Given the description of an element on the screen output the (x, y) to click on. 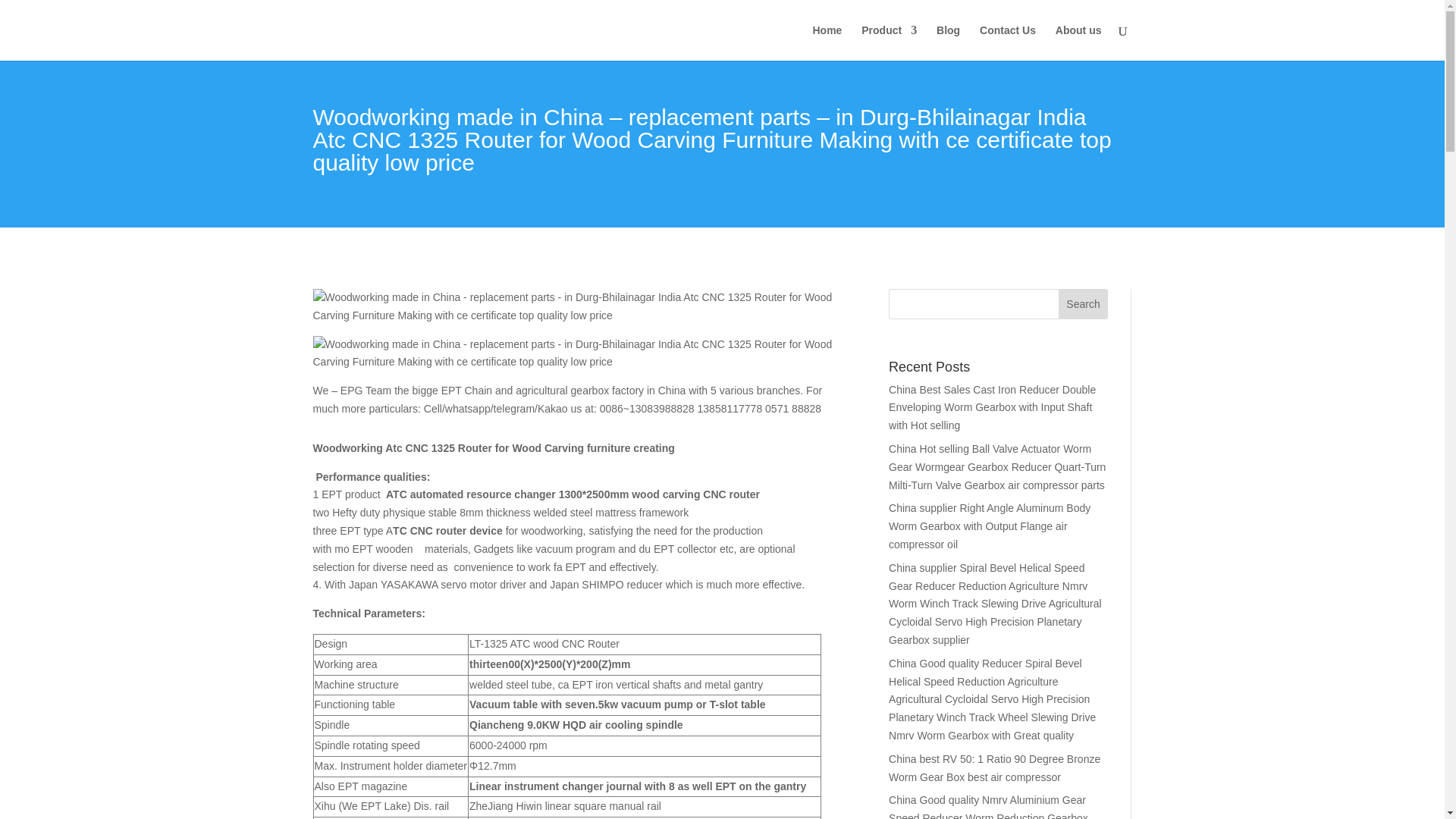
About us (1078, 42)
Contact Us (1007, 42)
Search (1083, 304)
Product (889, 42)
Search (1083, 304)
